Given the description of an element on the screen output the (x, y) to click on. 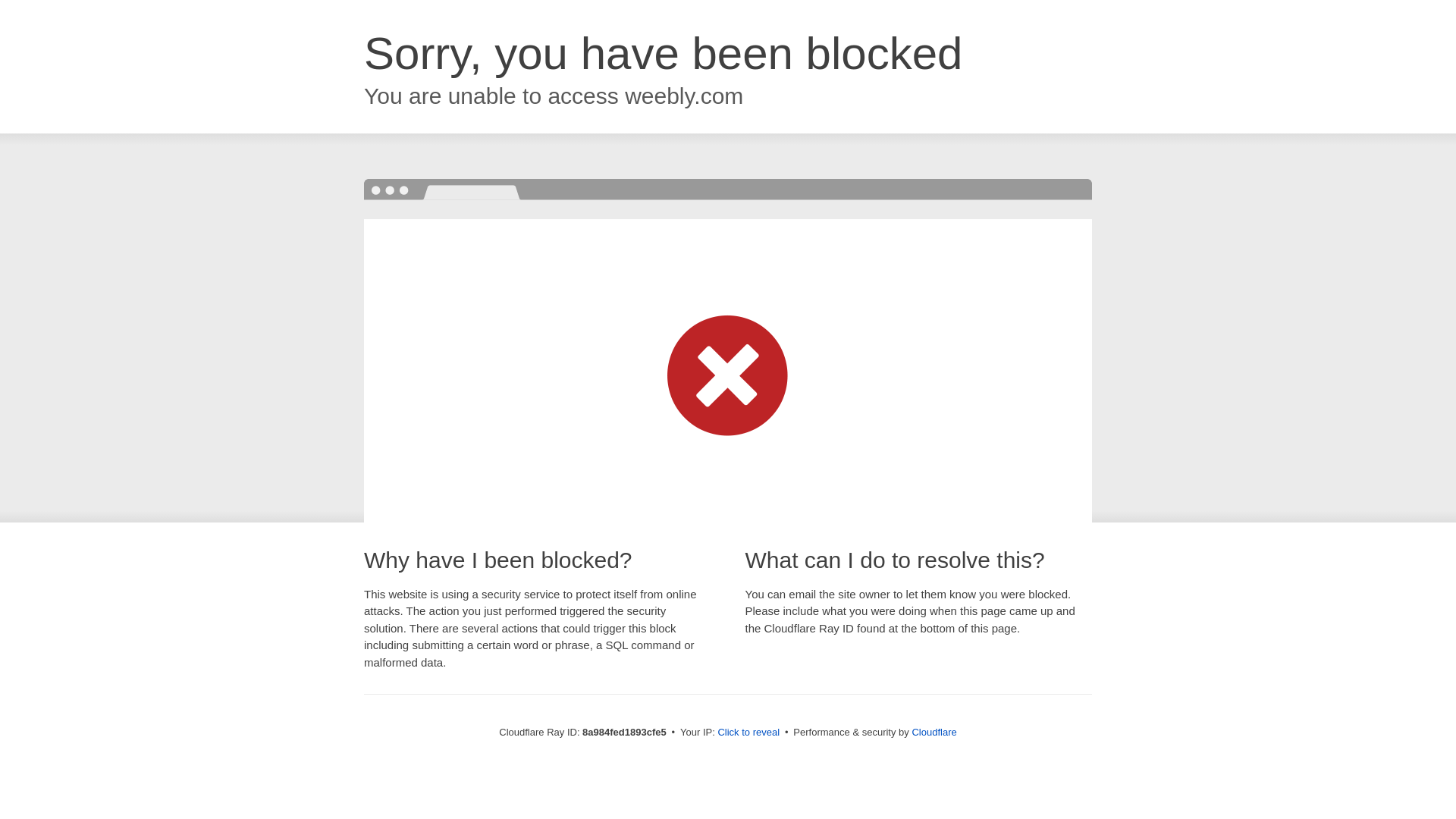
Click to reveal (747, 732)
Cloudflare (933, 731)
